Given the description of an element on the screen output the (x, y) to click on. 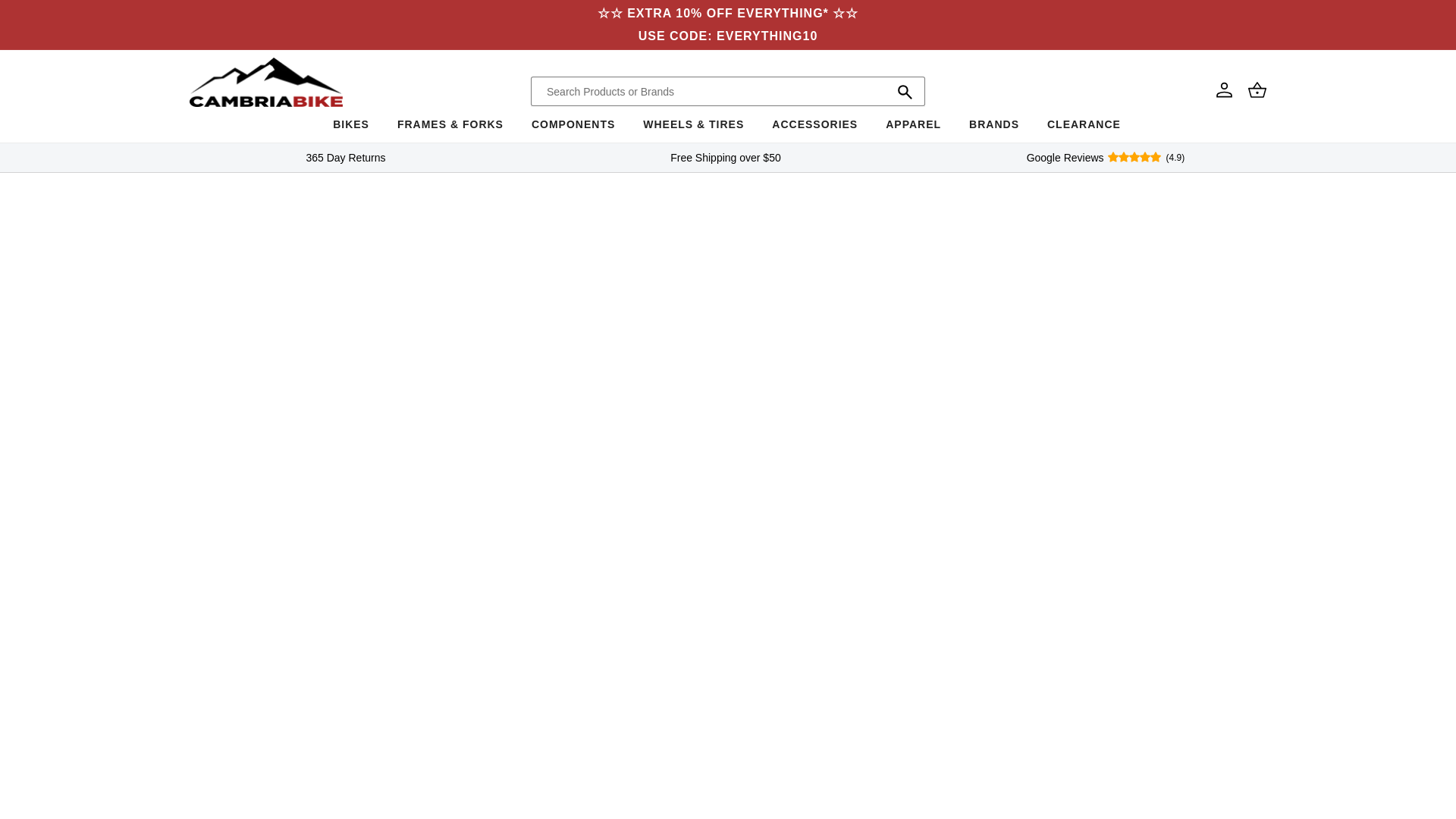
Skip to content (45, 17)
